Given the description of an element on the screen output the (x, y) to click on. 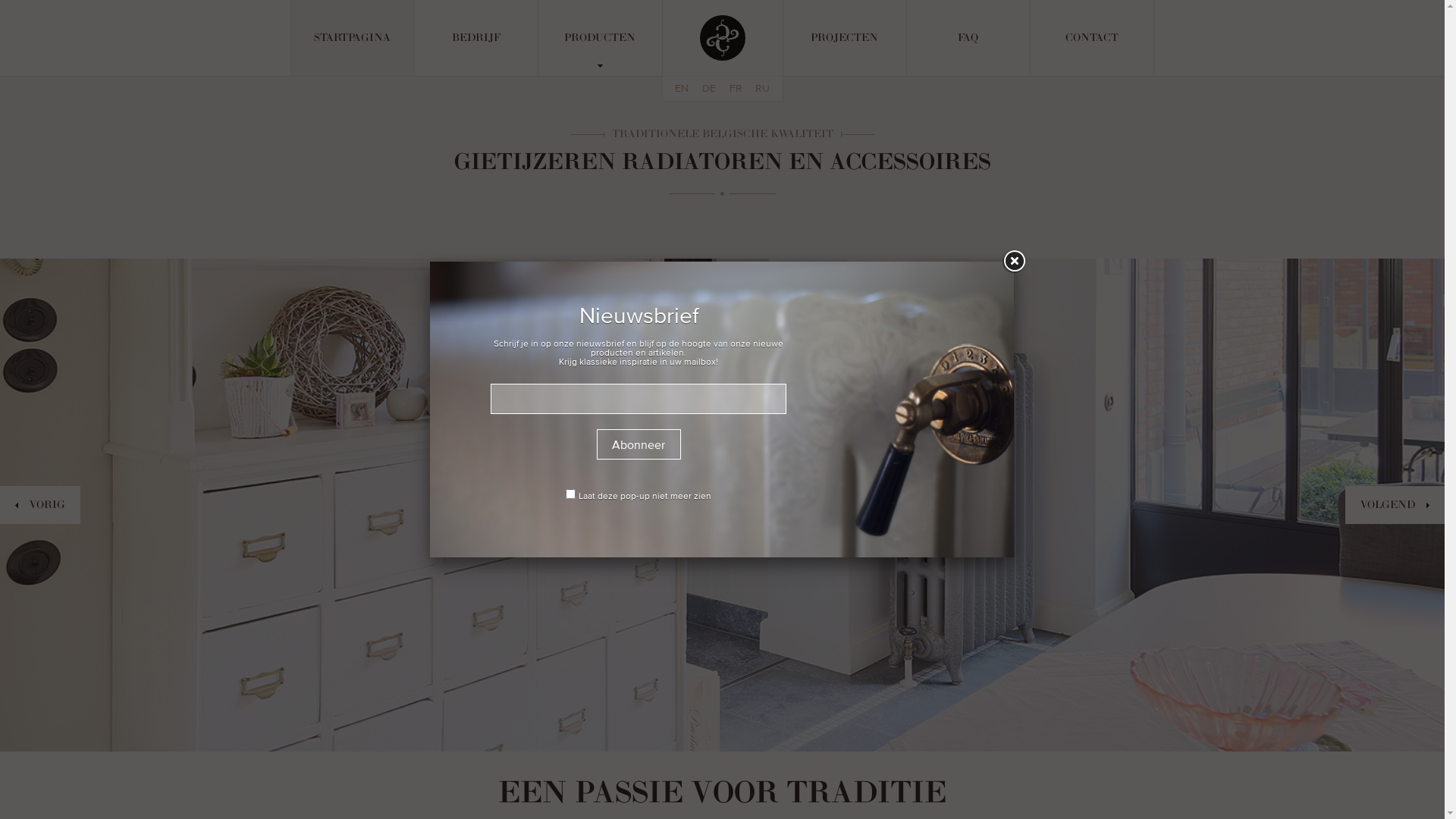
FR Element type: text (735, 88)
Abonneer Element type: text (638, 444)
CONTACT Element type: text (1091, 37)
PROJECTEN Element type: text (843, 37)
VORIG Element type: text (40, 505)
PRODUCTEN Element type: text (599, 37)
Close Element type: hover (1013, 261)
EN Element type: text (682, 88)
FAQ Element type: text (967, 37)
DE Element type: text (708, 88)
BEDRIJF Element type: text (475, 37)
RU Element type: text (762, 88)
VOLGEND Element type: text (1394, 505)
STARTPAGINA Element type: text (352, 37)
